Given the description of an element on the screen output the (x, y) to click on. 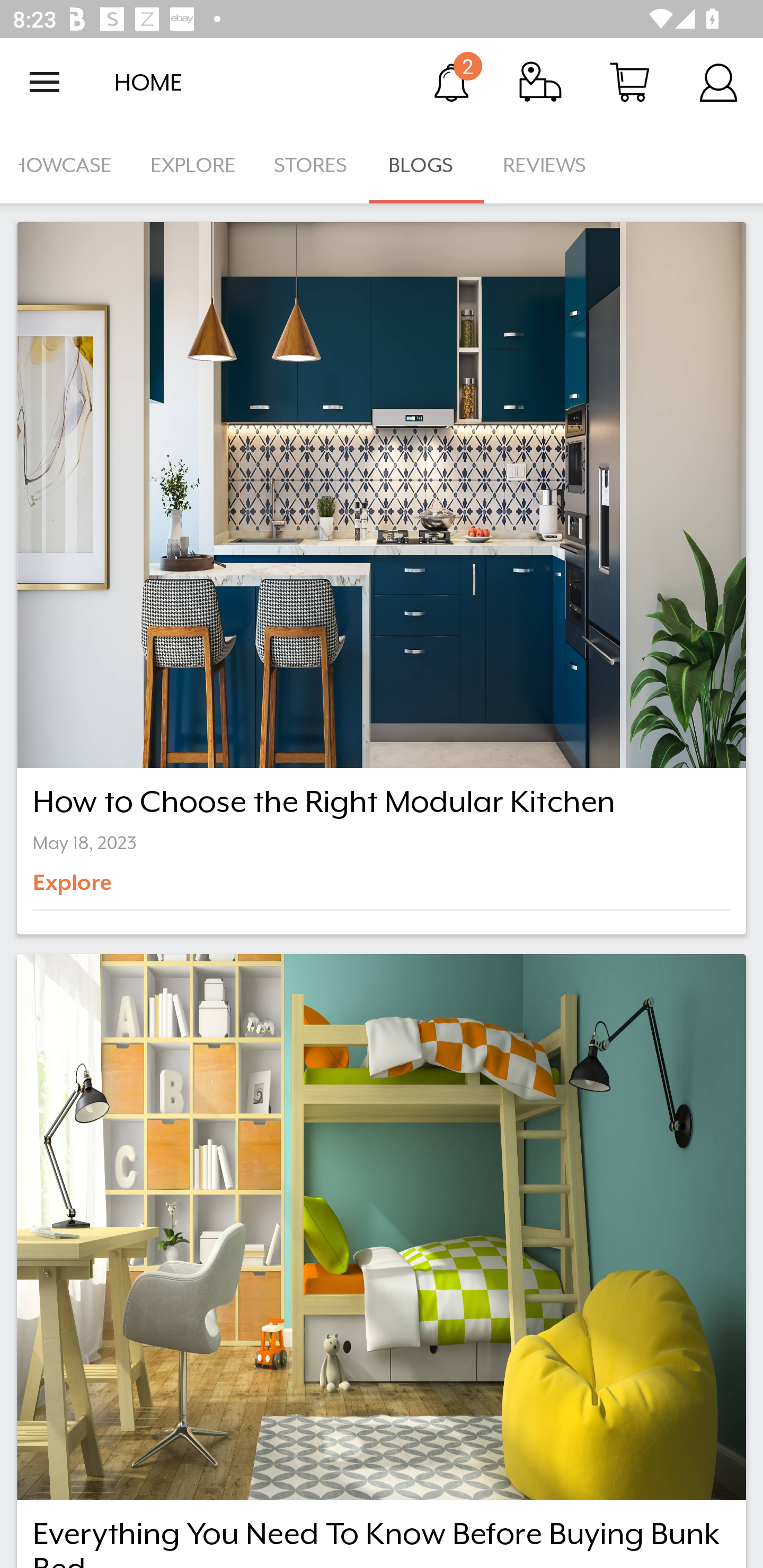
Open navigation drawer (44, 82)
Notification (450, 81)
Track Order (540, 81)
Cart (629, 81)
Account Details (718, 81)
SHOWCASE (65, 165)
EXPLORE (192, 165)
STORES (311, 165)
BLOGS (426, 165)
REVIEWS (544, 165)
Explore (102, 888)
Everything You Need To Know Before Buying Bunk Bed (381, 1260)
